Given the description of an element on the screen output the (x, y) to click on. 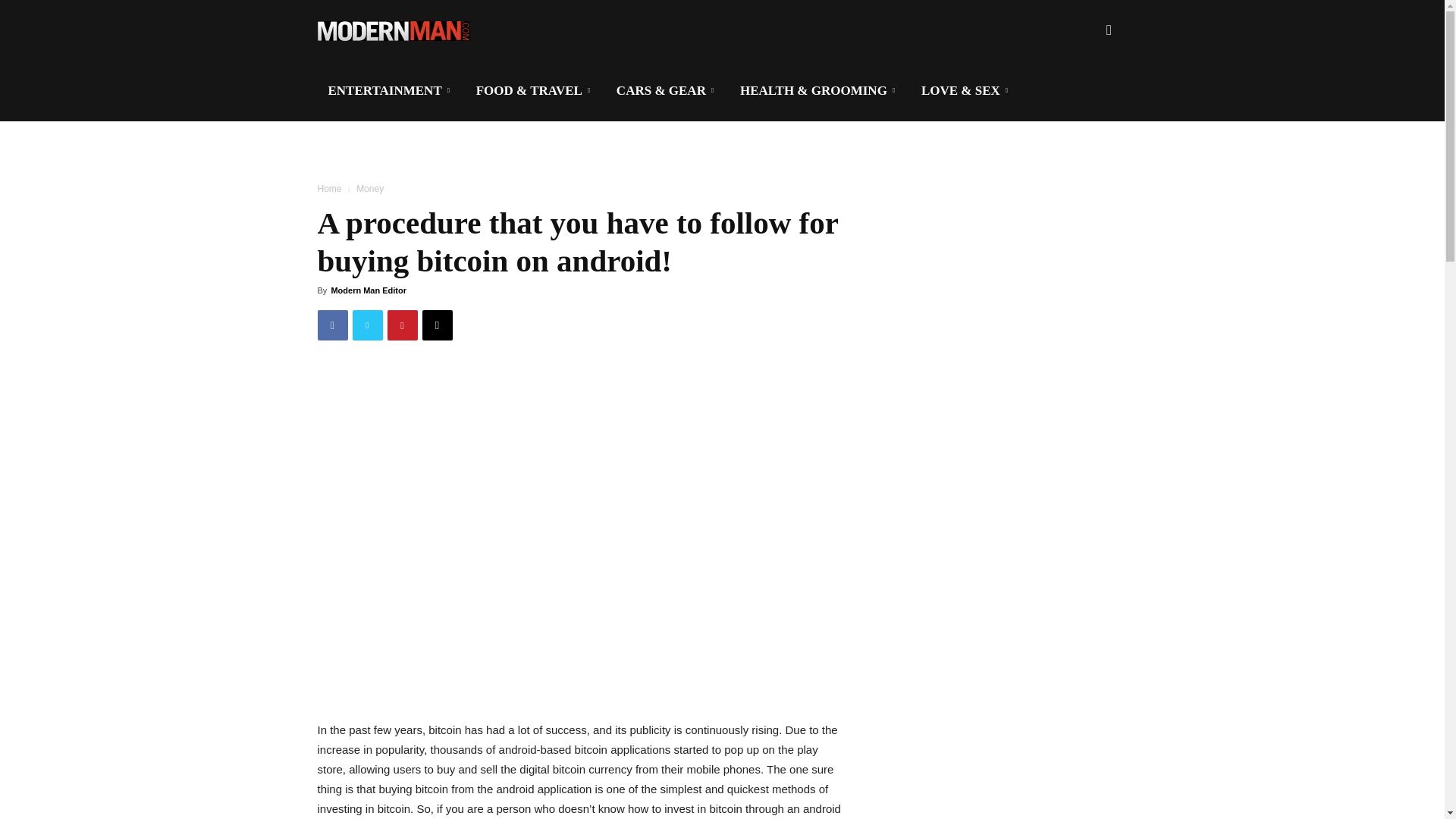
Modern Man (392, 30)
Search (1085, 102)
